Given the description of an element on the screen output the (x, y) to click on. 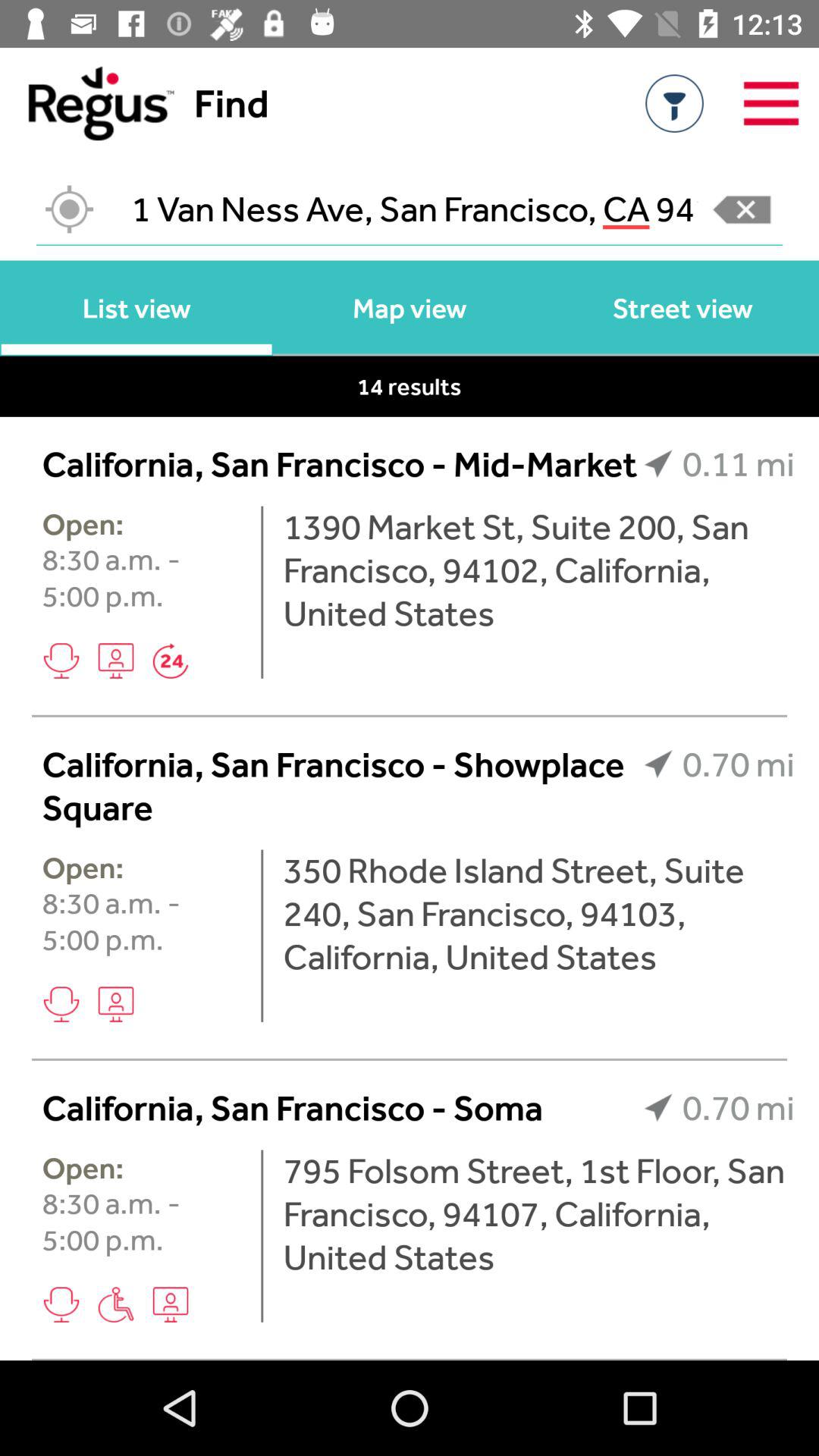
press item to the left of the find (87, 103)
